Given the description of an element on the screen output the (x, y) to click on. 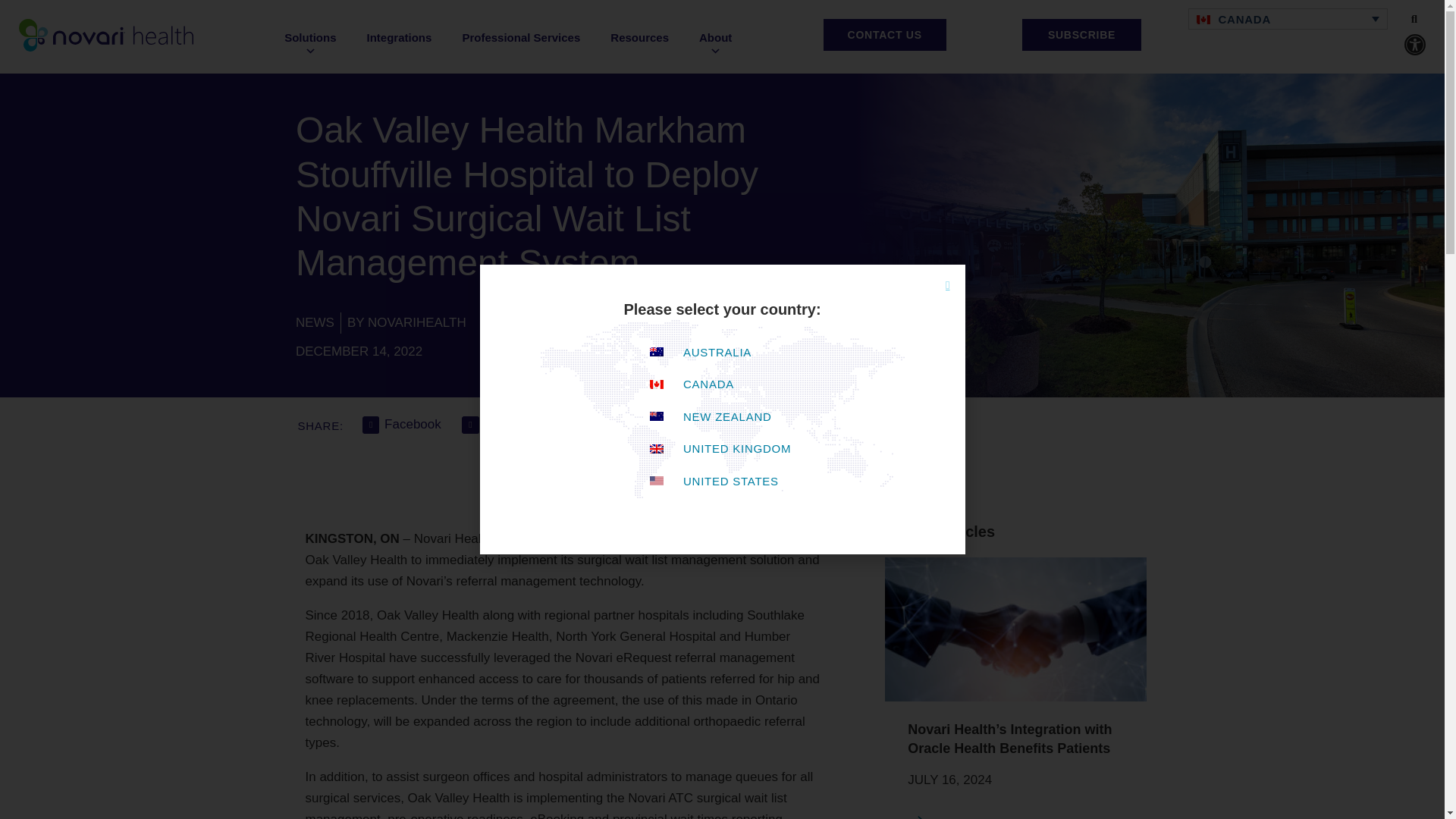
About (715, 43)
Solutions (309, 43)
CONTACT US (885, 34)
Integrations (399, 37)
BY NOVARIHEALTH (406, 322)
CANADA (1287, 19)
SUBSCRIBE (1081, 34)
NEWS (314, 322)
Resources (639, 37)
Professional Services (520, 37)
